Given the description of an element on the screen output the (x, y) to click on. 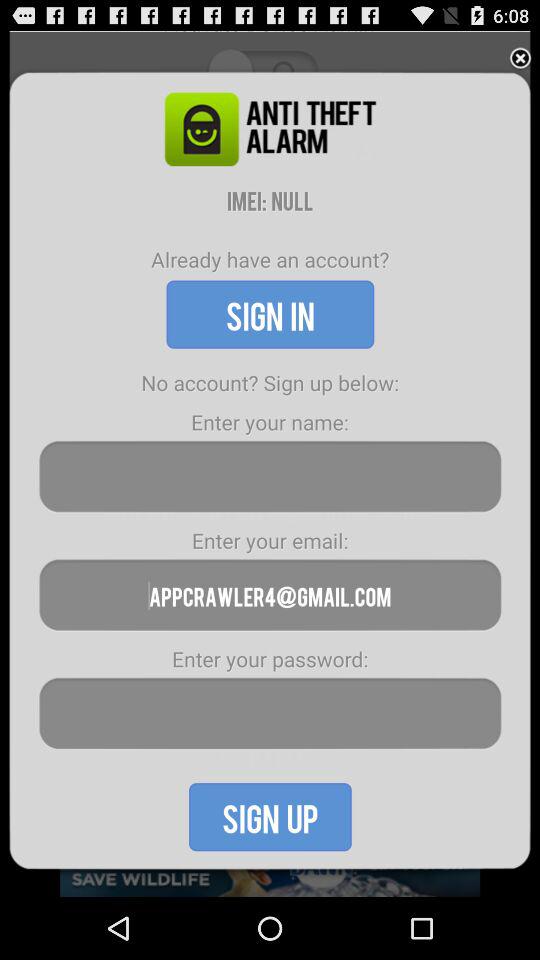
go to close (520, 58)
